Given the description of an element on the screen output the (x, y) to click on. 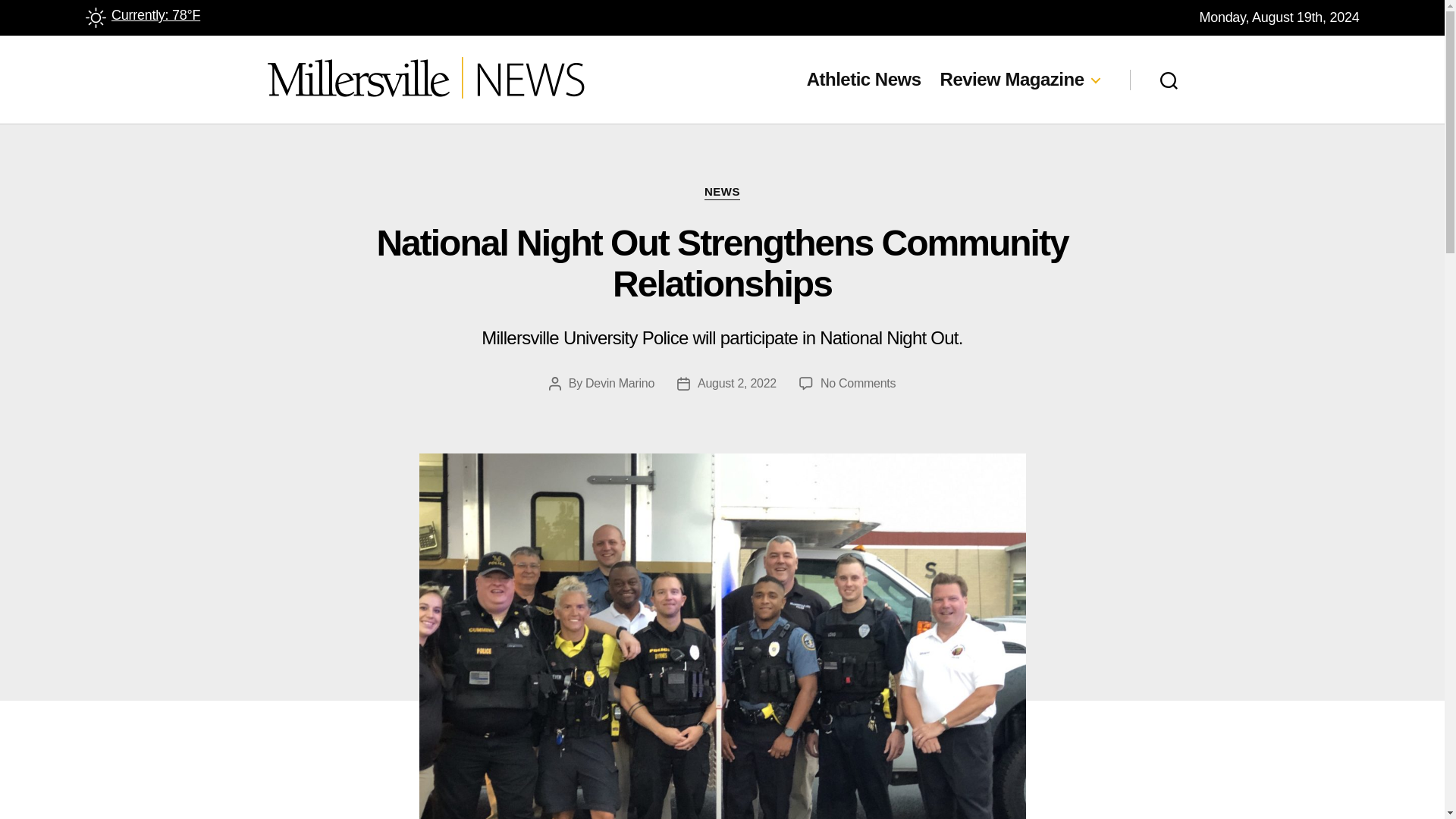
Fair (94, 17)
NEWS (721, 192)
Athletic News (863, 79)
Review Magazine (1019, 79)
